Given the description of an element on the screen output the (x, y) to click on. 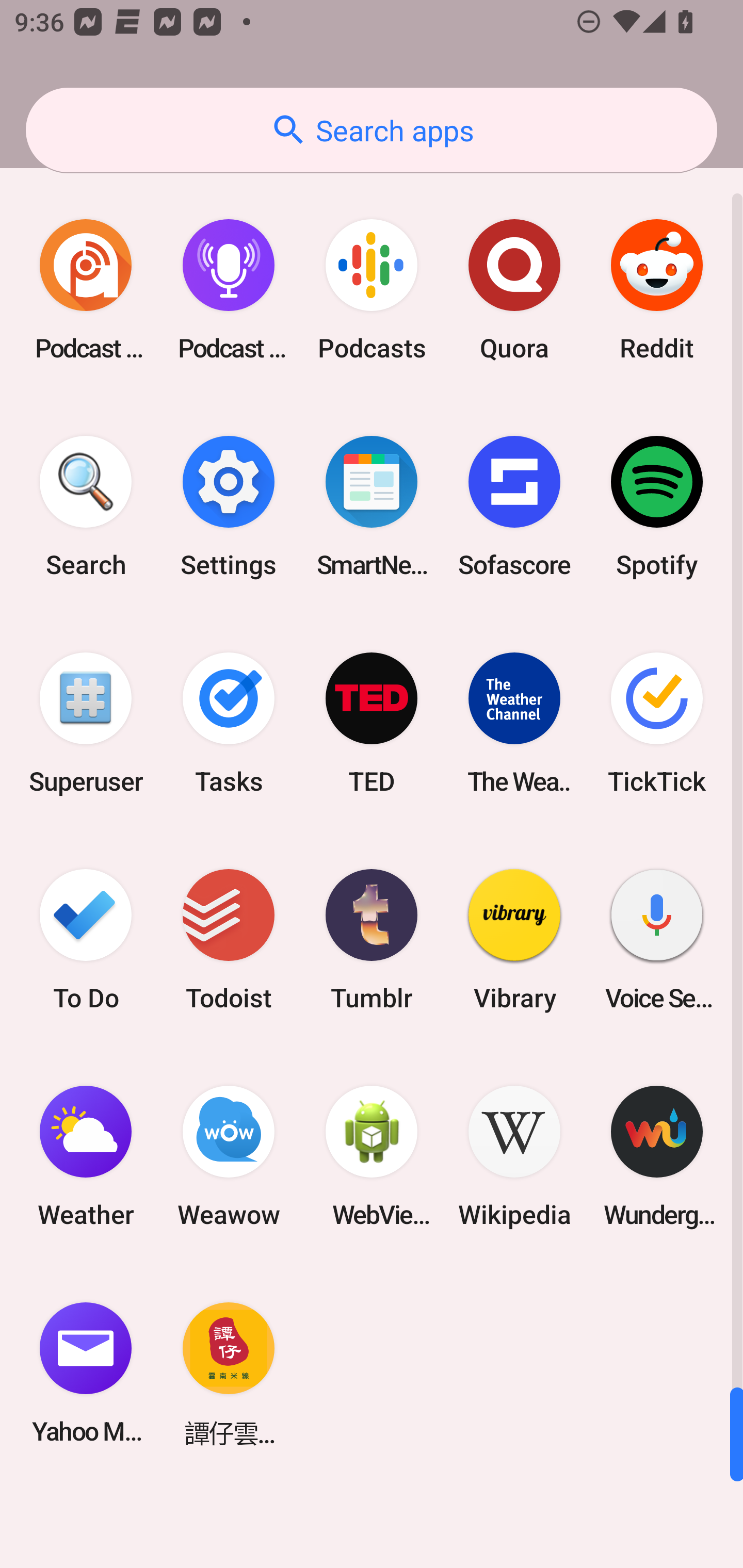
  Search apps (371, 130)
Podcast Addict (85, 289)
Podcast Player (228, 289)
Podcasts (371, 289)
Quora (514, 289)
Reddit (656, 289)
Search (85, 506)
Settings (228, 506)
SmartNews (371, 506)
Sofascore (514, 506)
Spotify (656, 506)
Superuser (85, 722)
Tasks (228, 722)
TED (371, 722)
The Weather Channel (514, 722)
TickTick (656, 722)
To Do (85, 939)
Todoist (228, 939)
Tumblr (371, 939)
Vibrary (514, 939)
Voice Search (656, 939)
Weather (85, 1156)
Weawow (228, 1156)
WebView Browser Tester (371, 1156)
Wikipedia (514, 1156)
Wunderground (656, 1156)
Yahoo Mail (85, 1373)
譚仔雲南米線 (228, 1373)
